Given the description of an element on the screen output the (x, y) to click on. 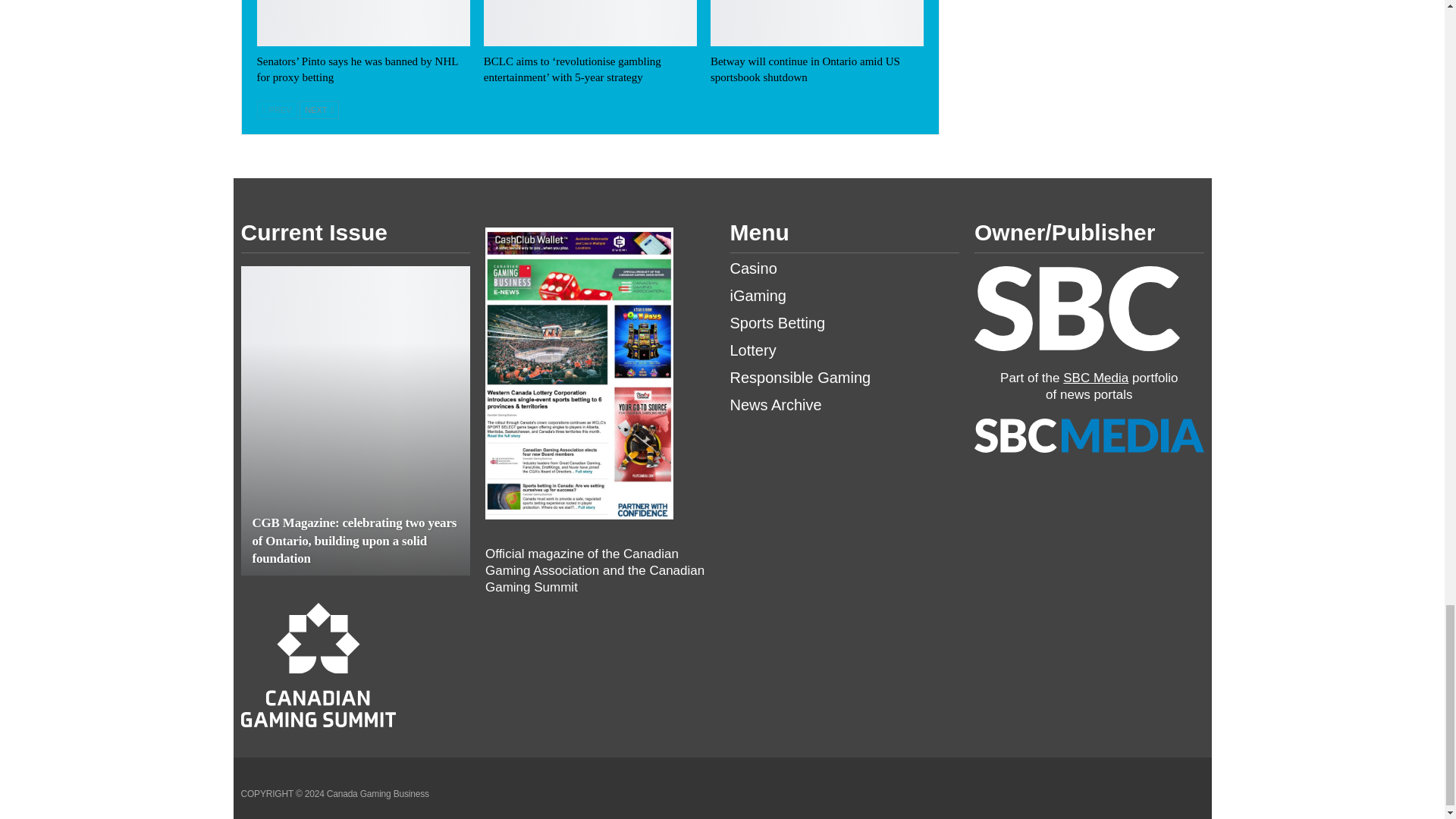
Previous (276, 109)
Betway will continue in Ontario amid US sportsbook shutdown (804, 69)
Betway will continue in Ontario amid US sportsbook shutdown (816, 22)
Next (319, 109)
